Given the description of an element on the screen output the (x, y) to click on. 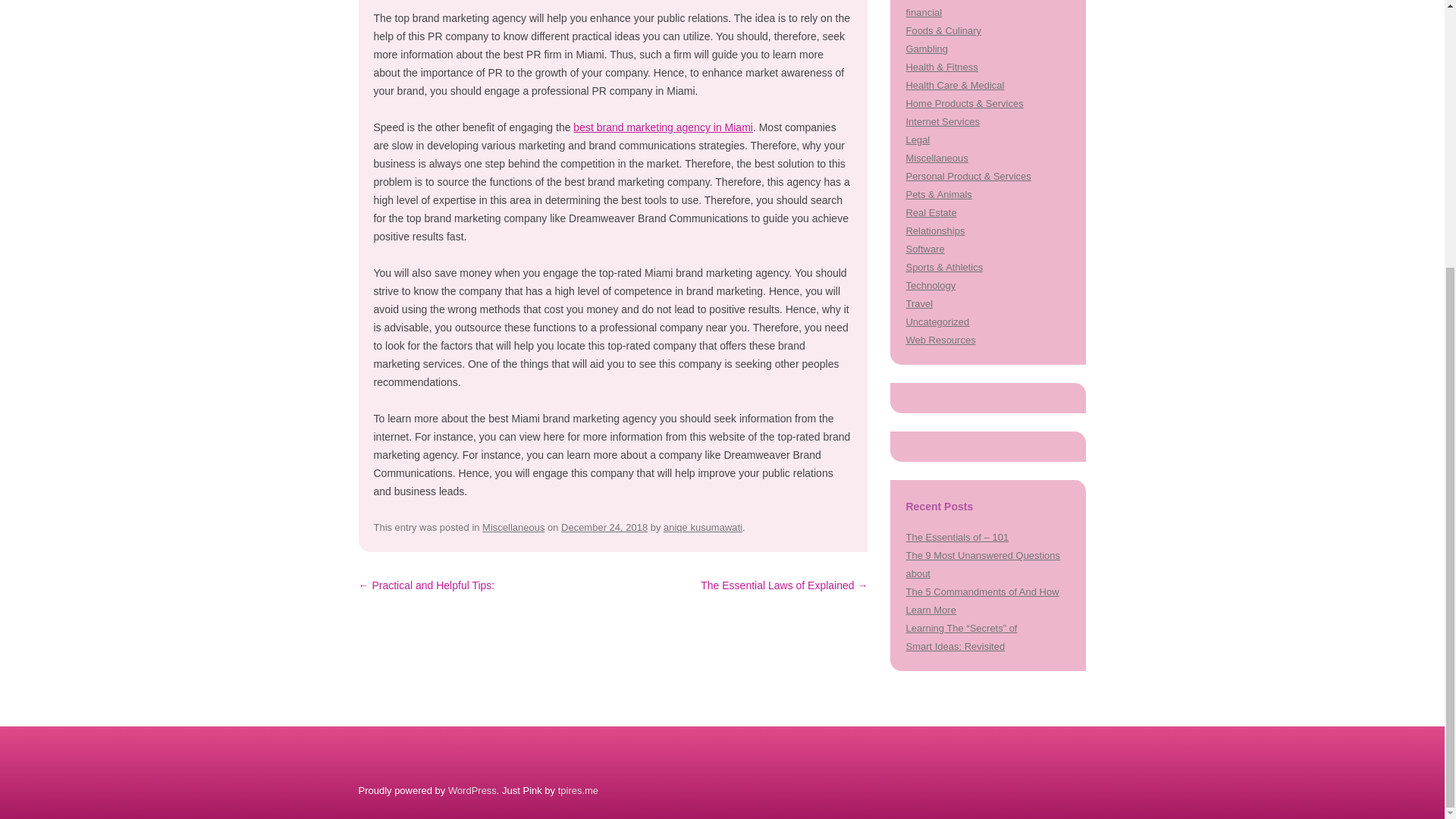
Relationships (934, 230)
Internet Services (941, 121)
Uncategorized (937, 321)
View all posts by aniqe kusumawati (702, 527)
The 9 Most Unanswered Questions about (982, 564)
9:33 am (603, 527)
financial (923, 12)
Miscellaneous (936, 157)
December 24, 2018 (603, 527)
best brand marketing agency in Miami (662, 127)
